Given the description of an element on the screen output the (x, y) to click on. 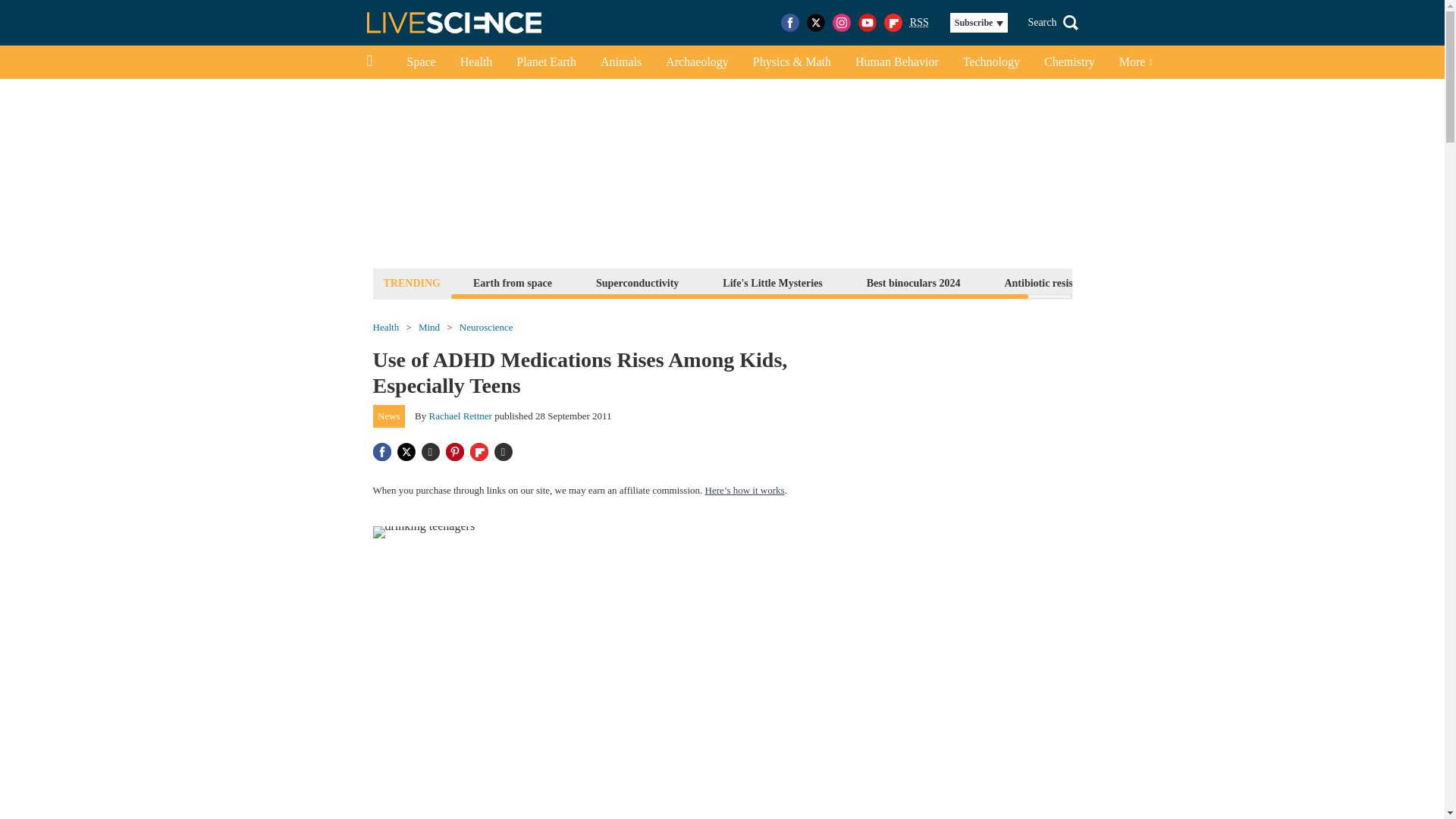
Chemistry (1069, 61)
RSS (919, 22)
Health (476, 61)
Superconductivity (637, 282)
Planet Earth (545, 61)
Earth from space (512, 282)
Neuroscience (486, 327)
Animals (620, 61)
Best binoculars 2024 (913, 282)
Human Behavior (896, 61)
